Given the description of an element on the screen output the (x, y) to click on. 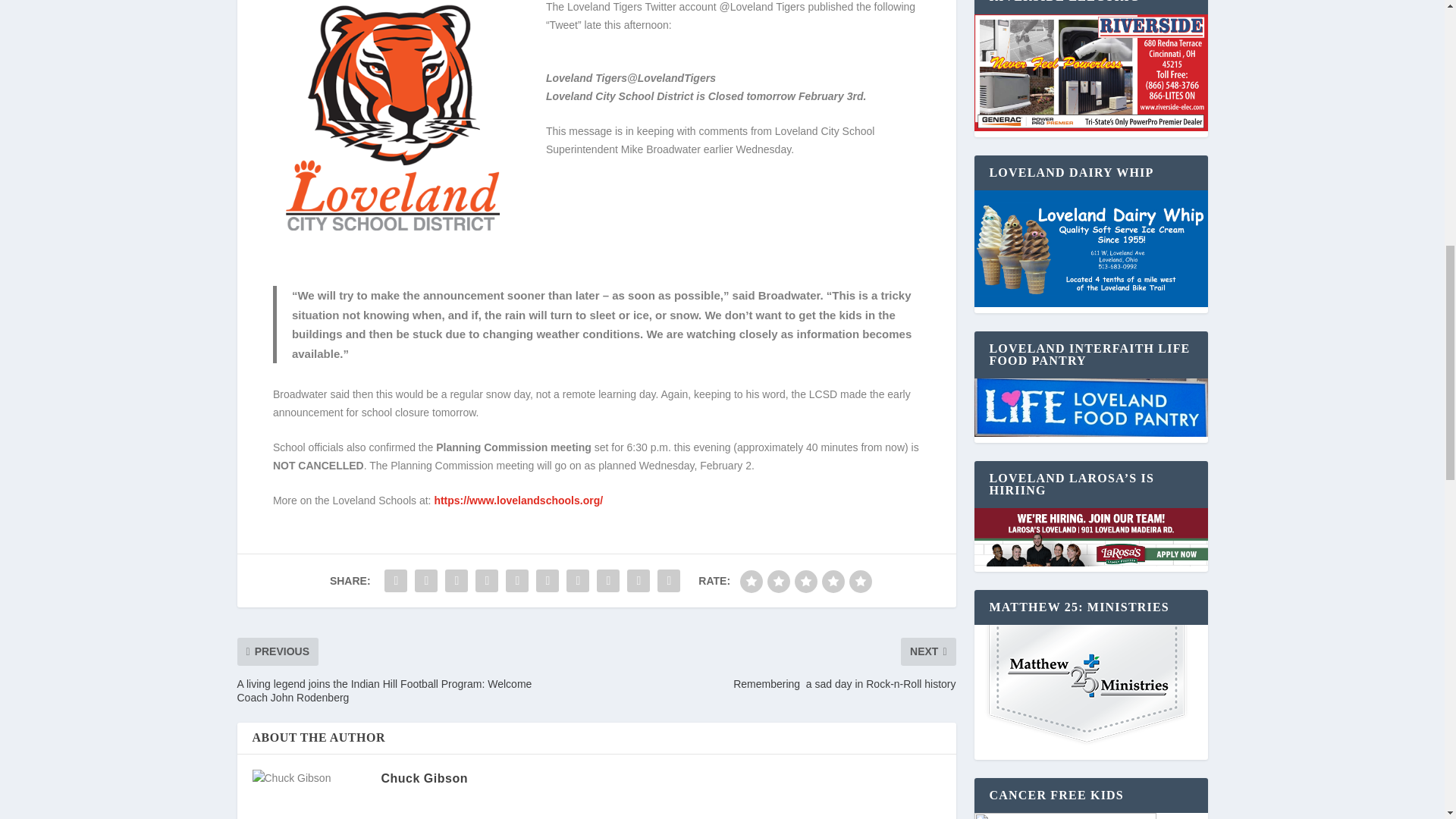
Loveland Tigers (586, 78)
